Given the description of an element on the screen output the (x, y) to click on. 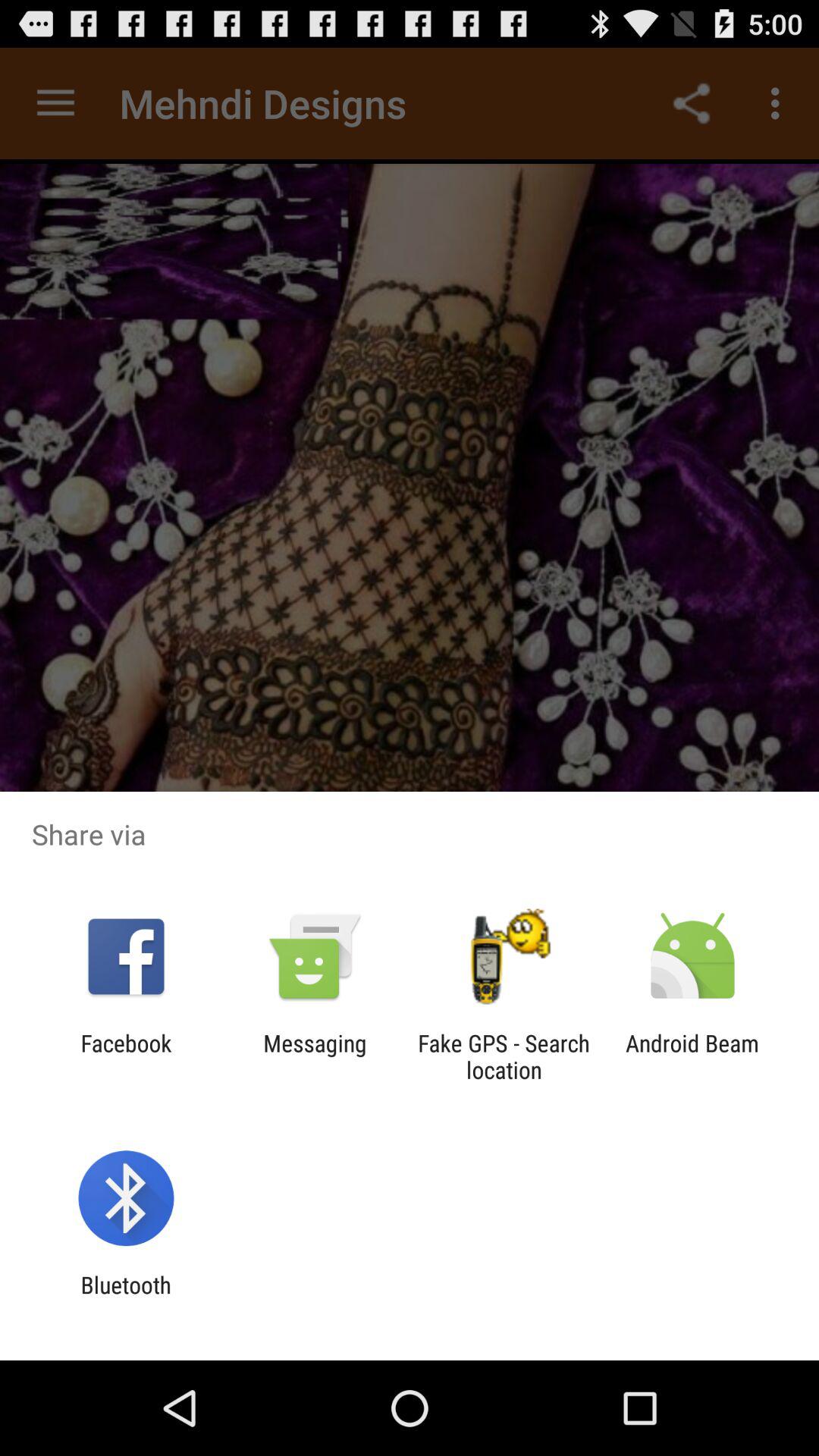
open icon to the left of the messaging icon (125, 1056)
